Given the description of an element on the screen output the (x, y) to click on. 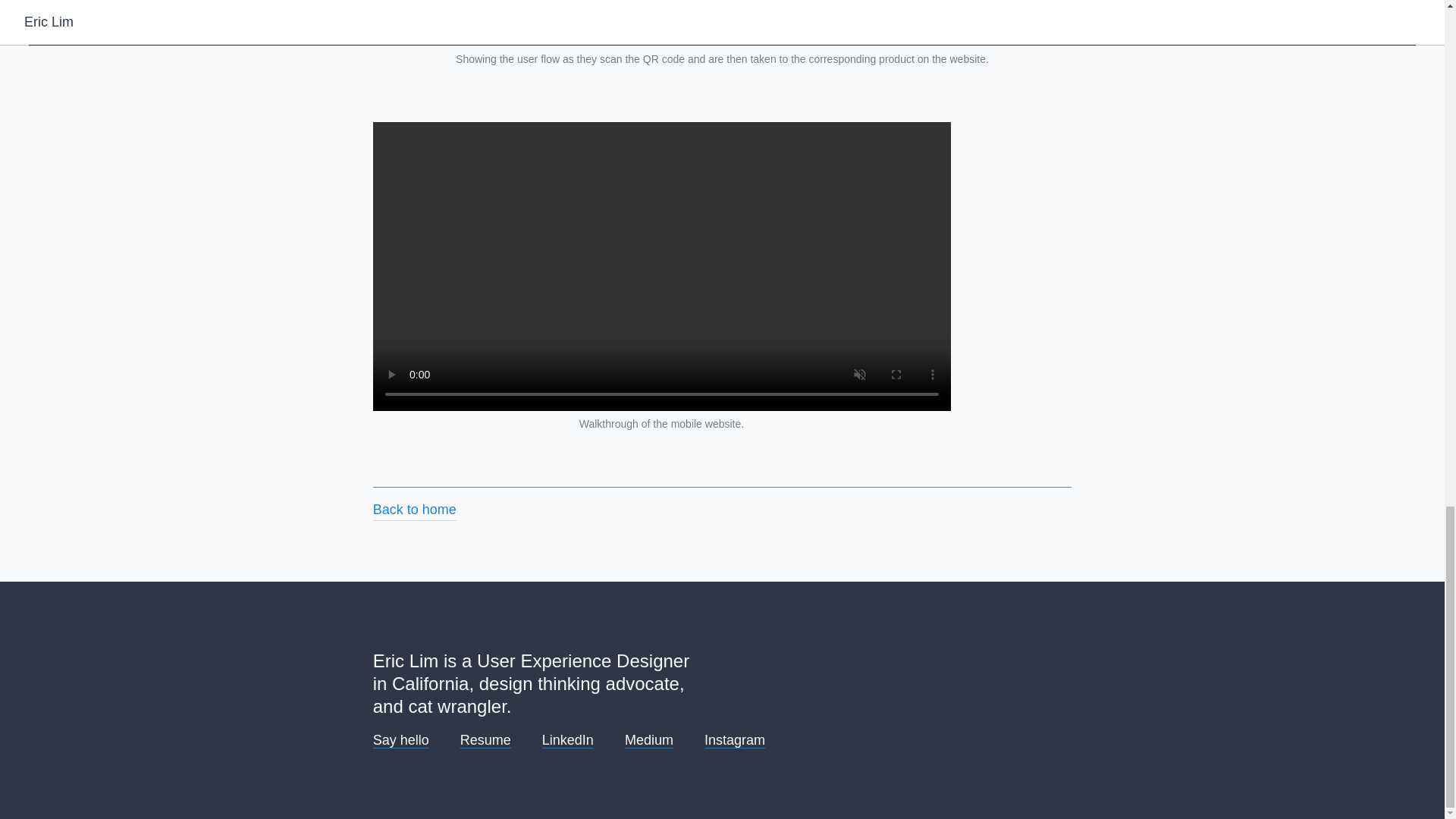
Instagram (734, 740)
LinkedIn (567, 740)
Say hello (400, 740)
Back to home (414, 503)
Resume (485, 740)
Medium (648, 740)
